Given the description of an element on the screen output the (x, y) to click on. 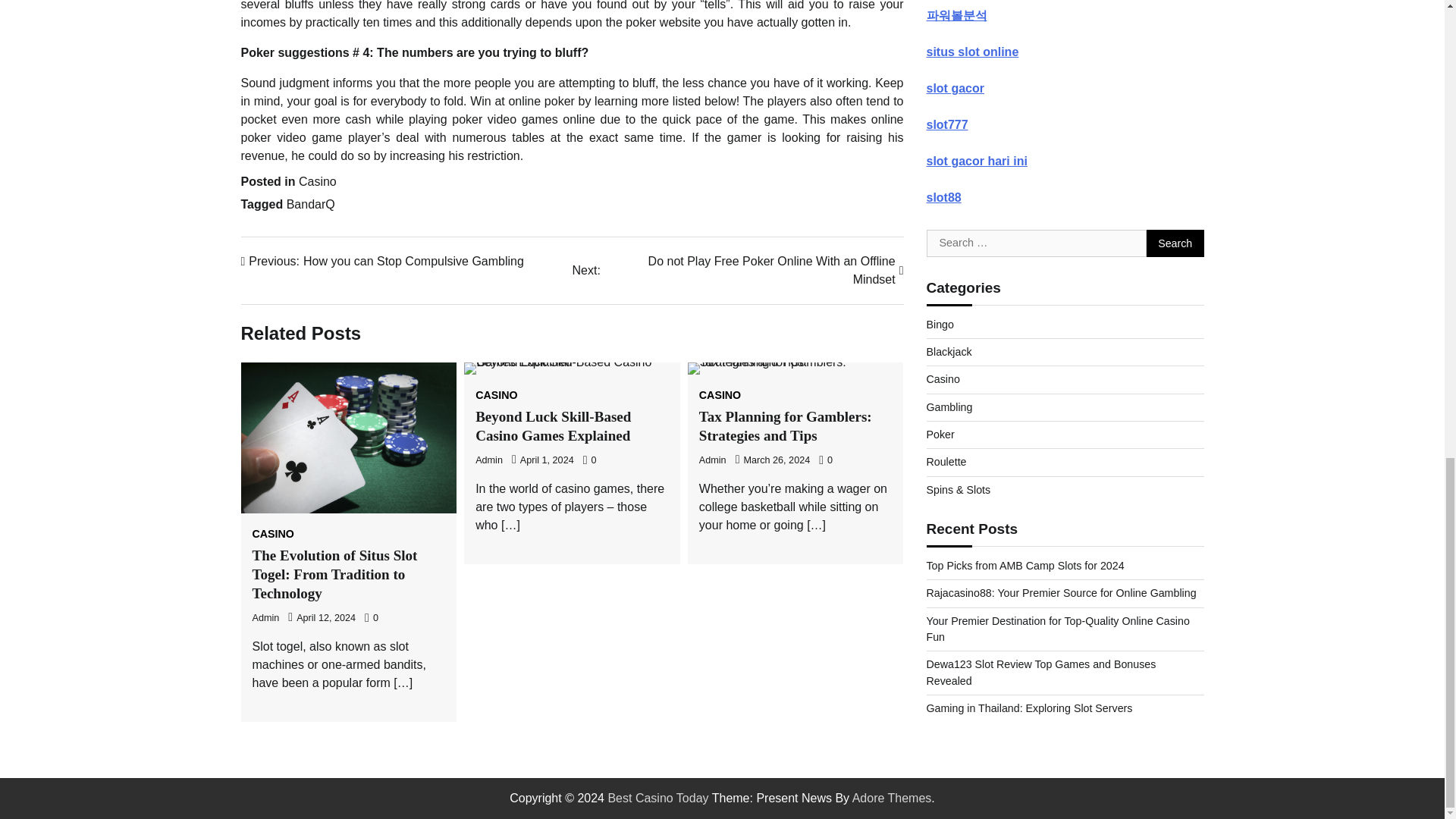
BandarQ (310, 204)
Admin (265, 617)
Beyond Luck Skill-Based Casino Games Explained (553, 425)
Tax Planning for Gamblers: Strategies and Tips (382, 261)
Admin (785, 425)
Casino (712, 460)
CASINO (317, 181)
CASINO (272, 533)
